Given the description of an element on the screen output the (x, y) to click on. 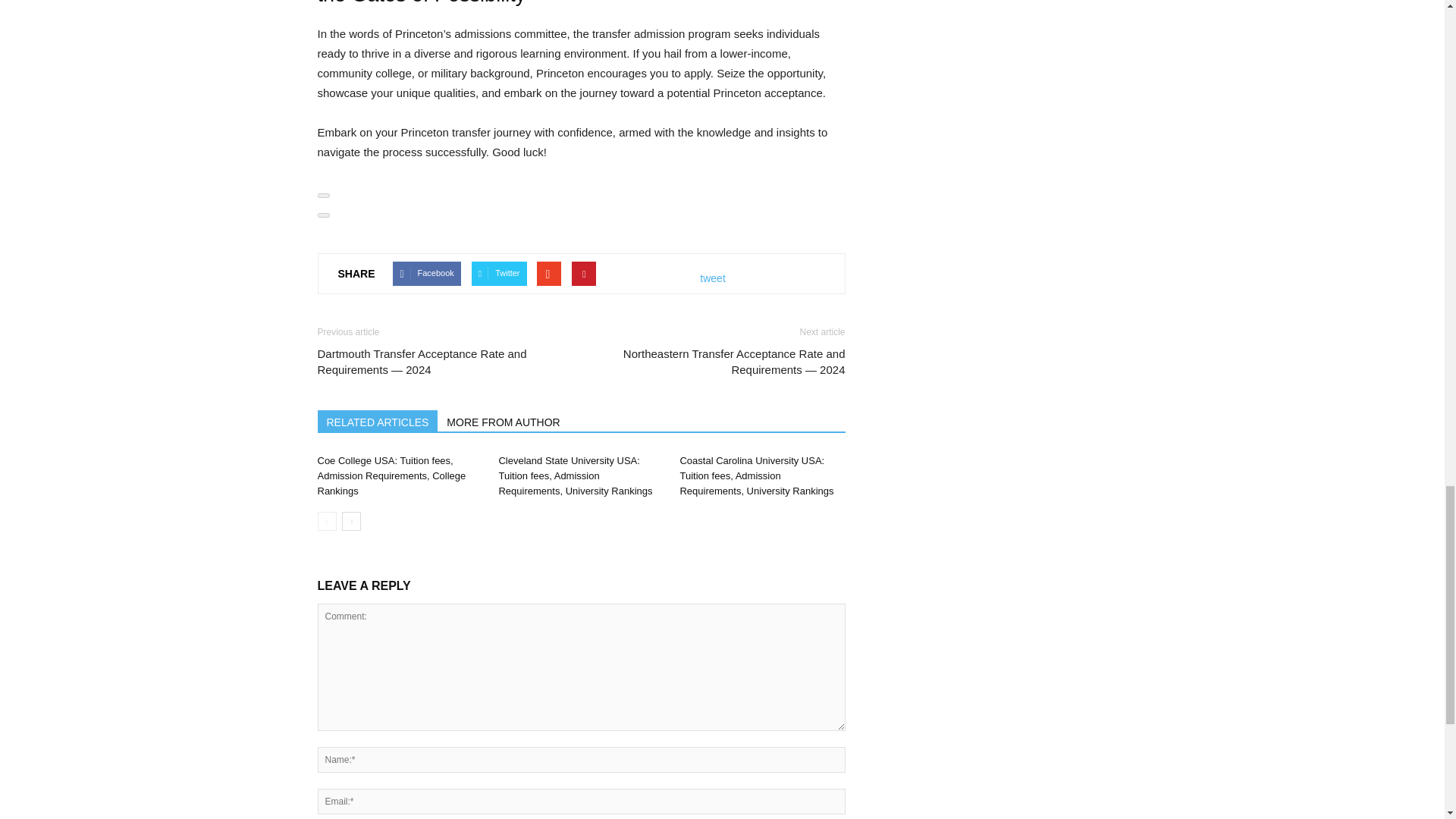
tweet (712, 278)
Facebook (426, 273)
Twitter (499, 273)
